Given the description of an element on the screen output the (x, y) to click on. 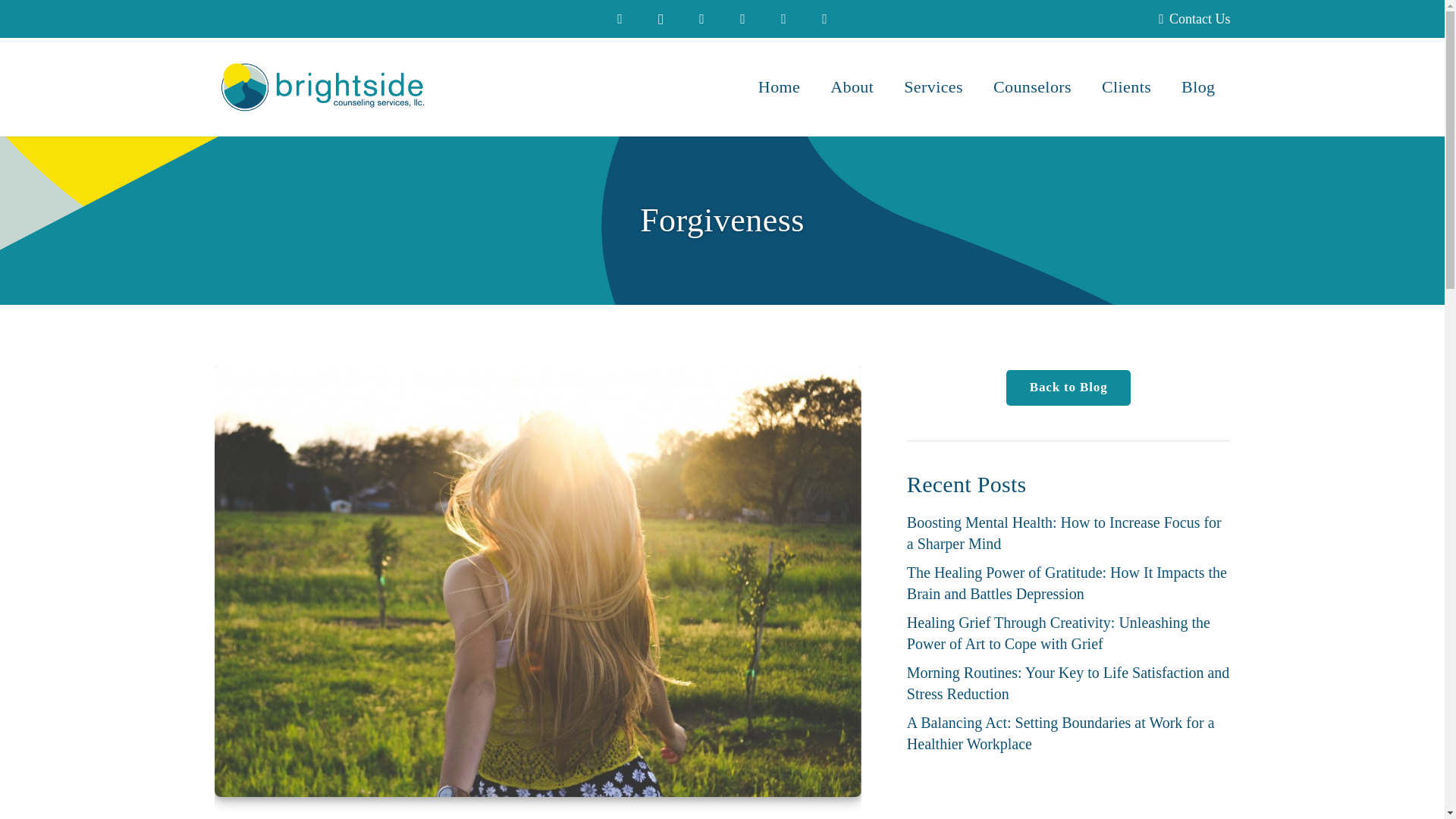
Clients (1126, 86)
Services (933, 86)
Pinterest (783, 18)
LinkedIn (824, 18)
Contact Us (1194, 17)
YouTube (743, 18)
Counselors (1032, 86)
Instagram (661, 18)
Facebook (620, 18)
Twitter (702, 18)
Home (778, 86)
About (851, 86)
